Given the description of an element on the screen output the (x, y) to click on. 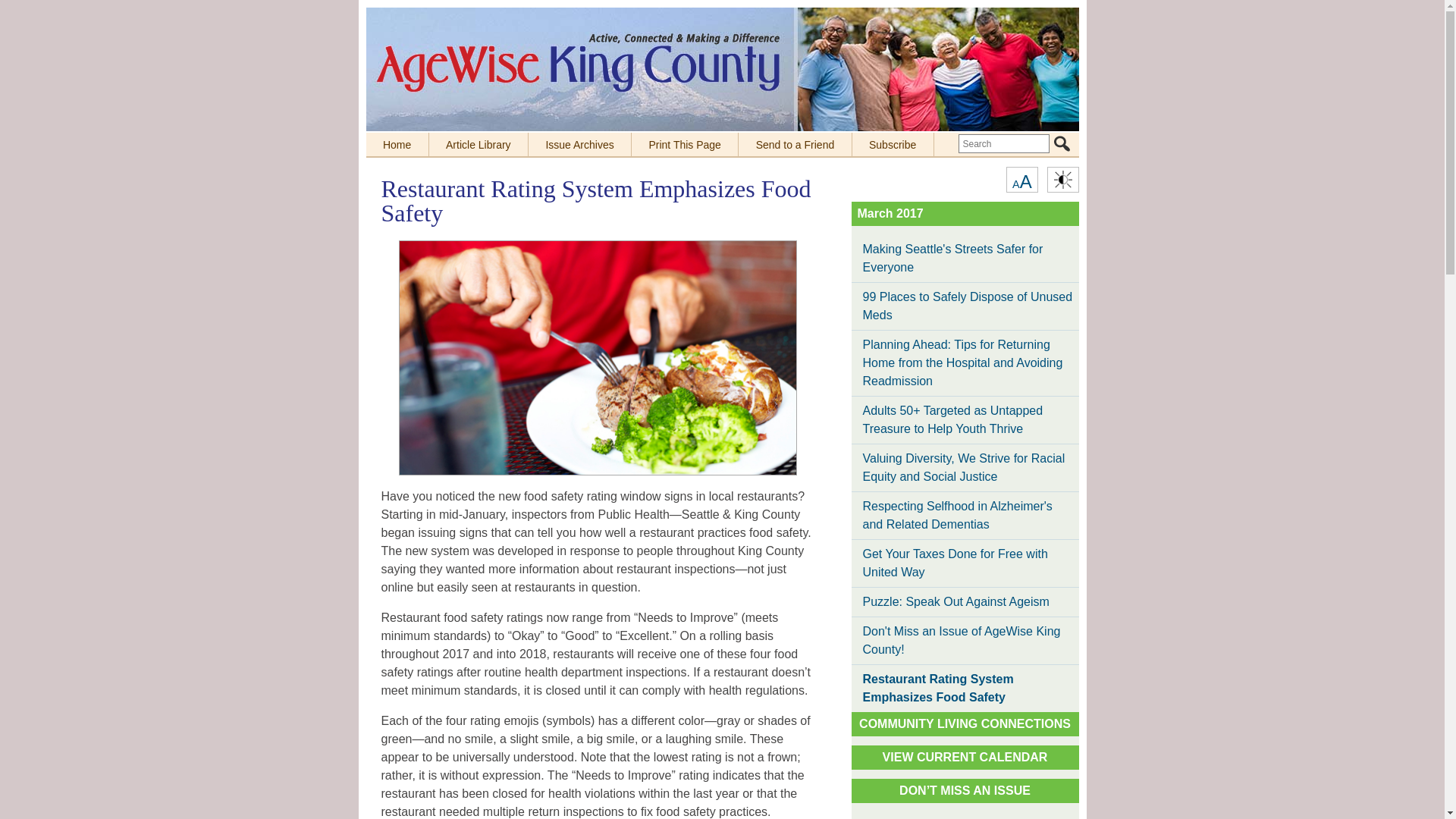
Making Seattle's Streets Safer for Everyone (964, 258)
Send your friends e-mail about this page (794, 144)
Subscribe (892, 144)
Print This Page (684, 144)
99 Places to Safely Dispose of Unused Meds (964, 306)
Article Library (478, 144)
March 2017 (890, 213)
Search (1061, 143)
Send to a Friend (794, 144)
Issue Archives (579, 144)
Search (1061, 143)
Home (396, 144)
High Contrast (1022, 179)
